Given the description of an element on the screen output the (x, y) to click on. 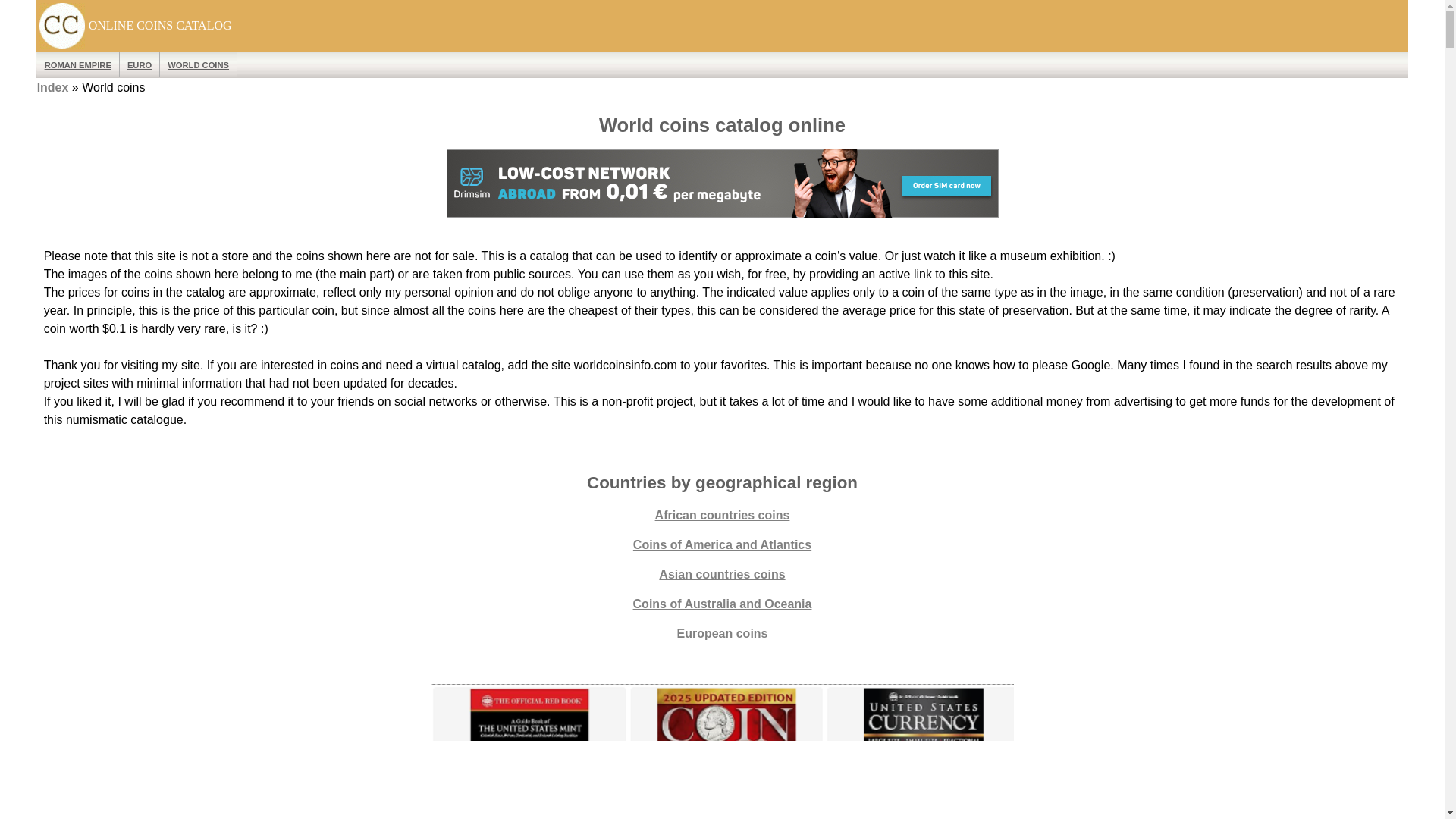
ROMAN EMPIRE (78, 64)
Coins of Australia and Oceania (722, 603)
WORLD COINS (198, 64)
Index (52, 87)
Asian countries coins (721, 574)
African countries coins (722, 514)
Coins of America and Atlantics (721, 544)
worldcoinsinfo.com logo (61, 25)
EURO (139, 64)
European coins (722, 633)
